Given the description of an element on the screen output the (x, y) to click on. 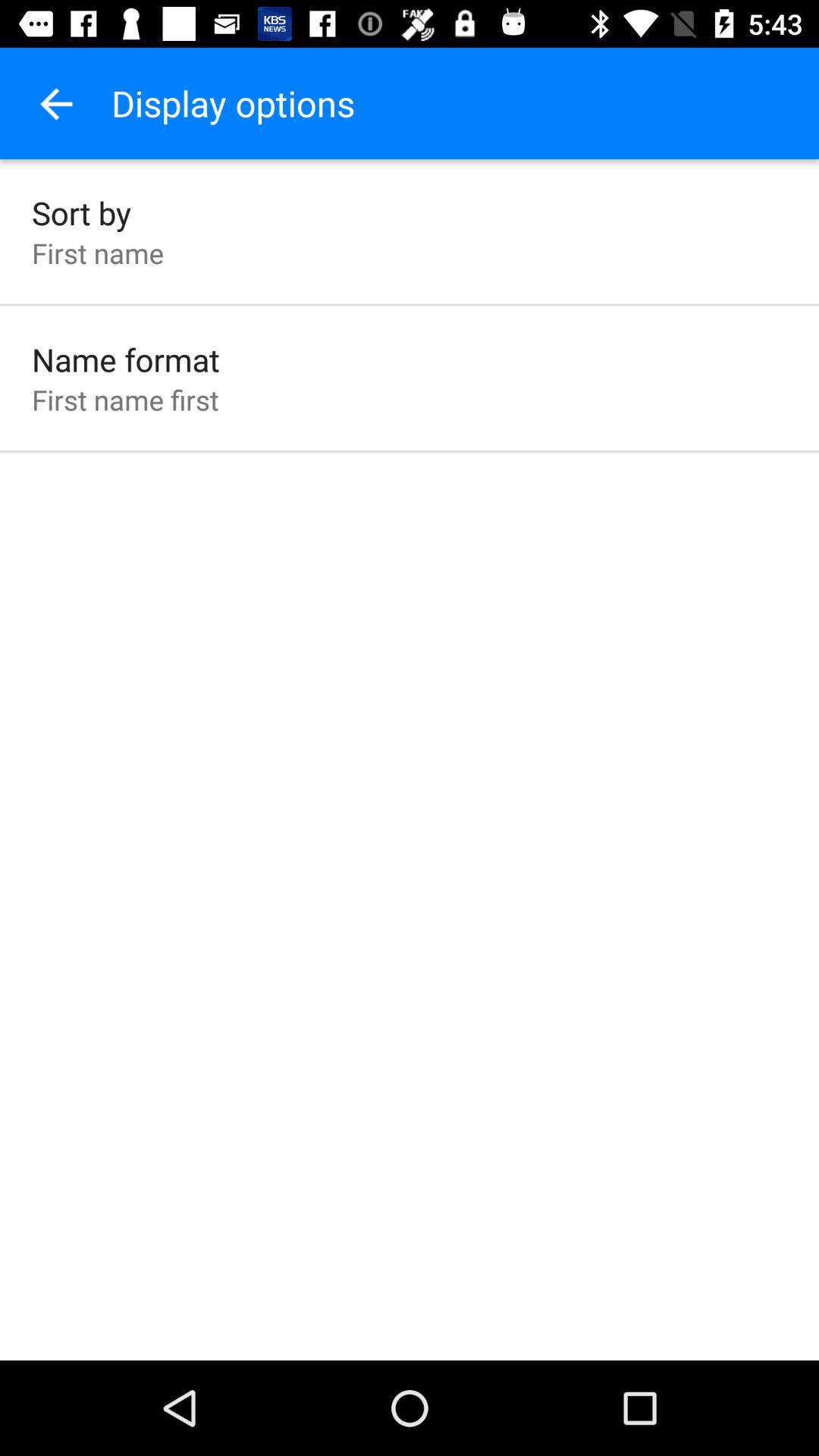
turn on the item above first name first icon (125, 359)
